Given the description of an element on the screen output the (x, y) to click on. 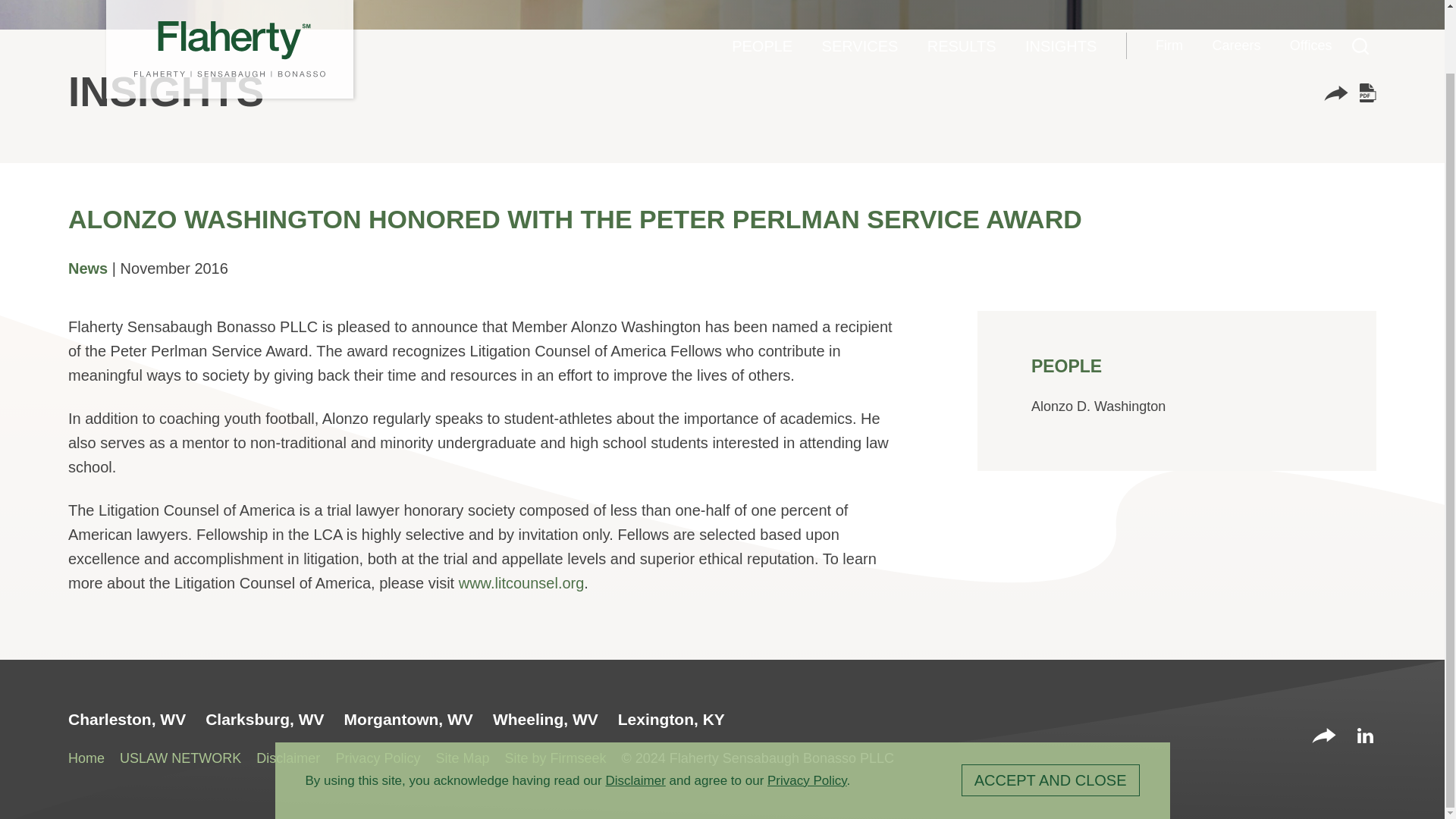
Privacy Policy (807, 711)
Share (1335, 95)
Share Icon (1335, 95)
Share (1323, 737)
LinkedIn Icon (1364, 735)
Share Icon (1323, 735)
Disclaimer  (635, 711)
Alonzo D. Washington (1098, 406)
www.litcounsel.org (521, 582)
Share Icon (1335, 92)
